Given the description of an element on the screen output the (x, y) to click on. 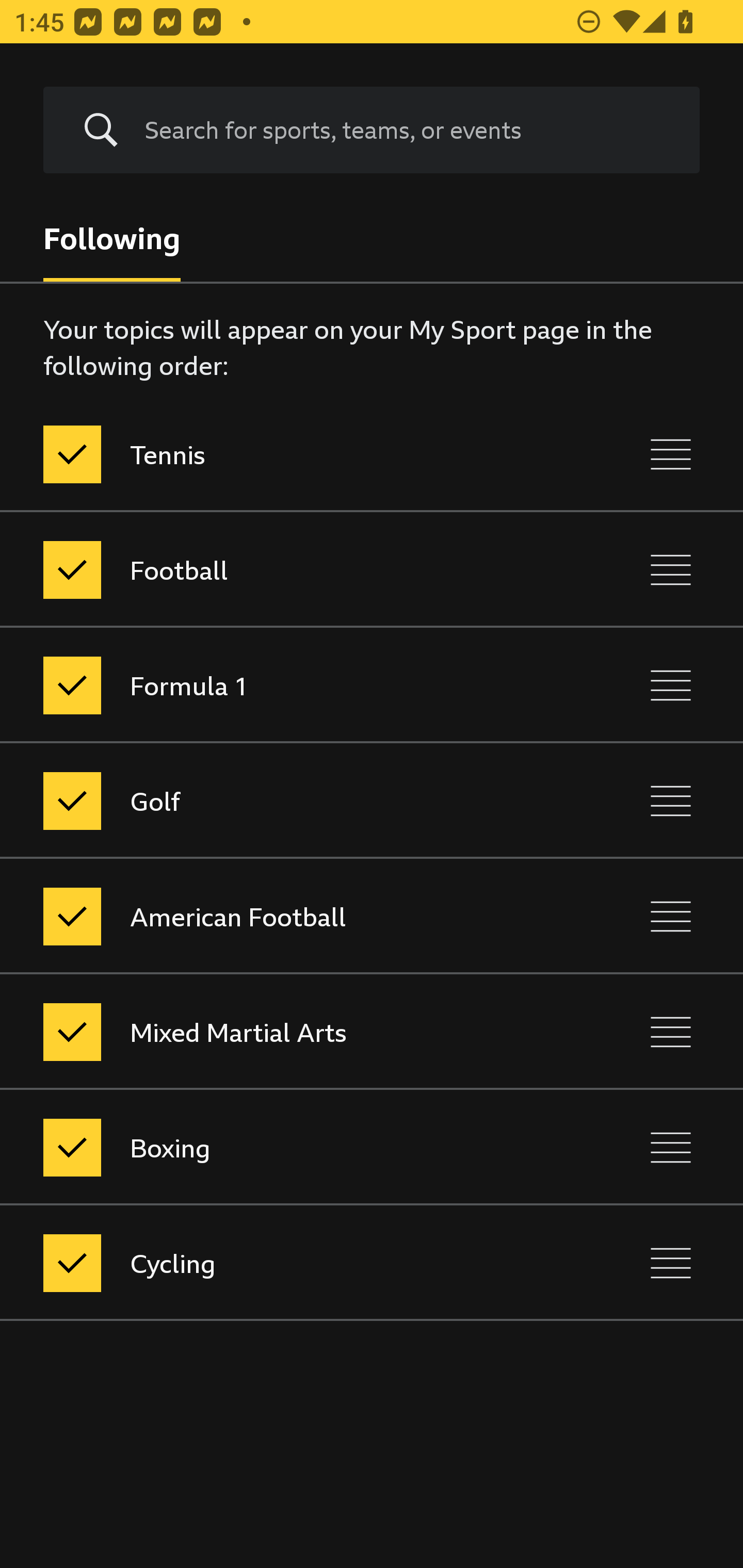
Search for sports, teams, or events (371, 130)
Search for sports, teams, or events (407, 130)
Tennis (284, 454)
Reorder Tennis (670, 454)
Football (284, 569)
Reorder Football (670, 569)
Formula 1 (284, 685)
Reorder Formula 1 (670, 685)
Golf (284, 801)
Reorder Golf (670, 801)
American Football (284, 916)
Reorder American Football (670, 916)
Mixed Martial Arts (284, 1031)
Reorder Mixed Martial Arts (670, 1031)
Boxing (284, 1147)
Reorder Boxing (670, 1147)
Cycling (284, 1262)
Reorder Cycling (670, 1262)
